Given the description of an element on the screen output the (x, y) to click on. 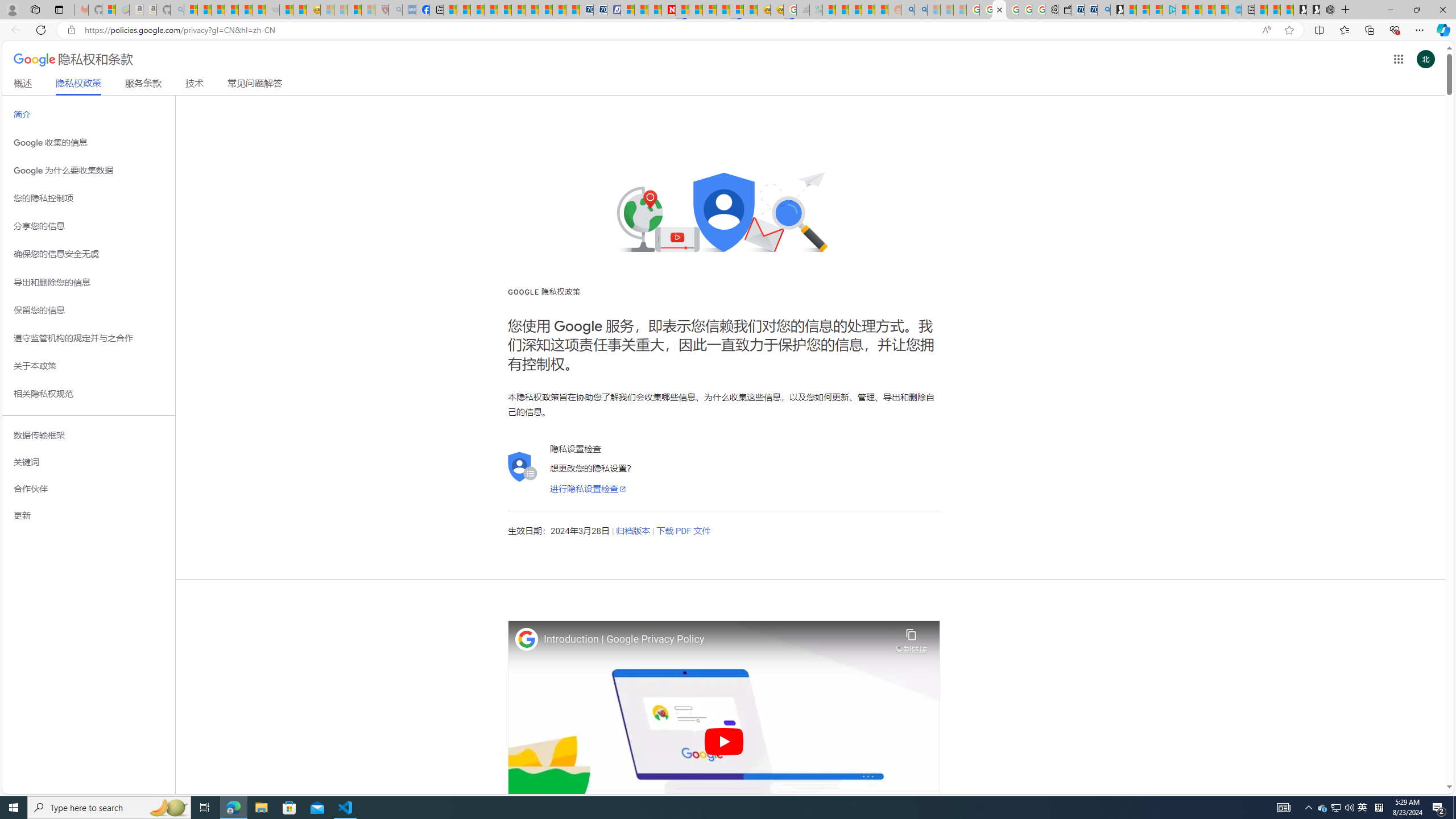
Climate Damage Becomes Too Severe To Reverse (490, 9)
